Given the description of an element on the screen output the (x, y) to click on. 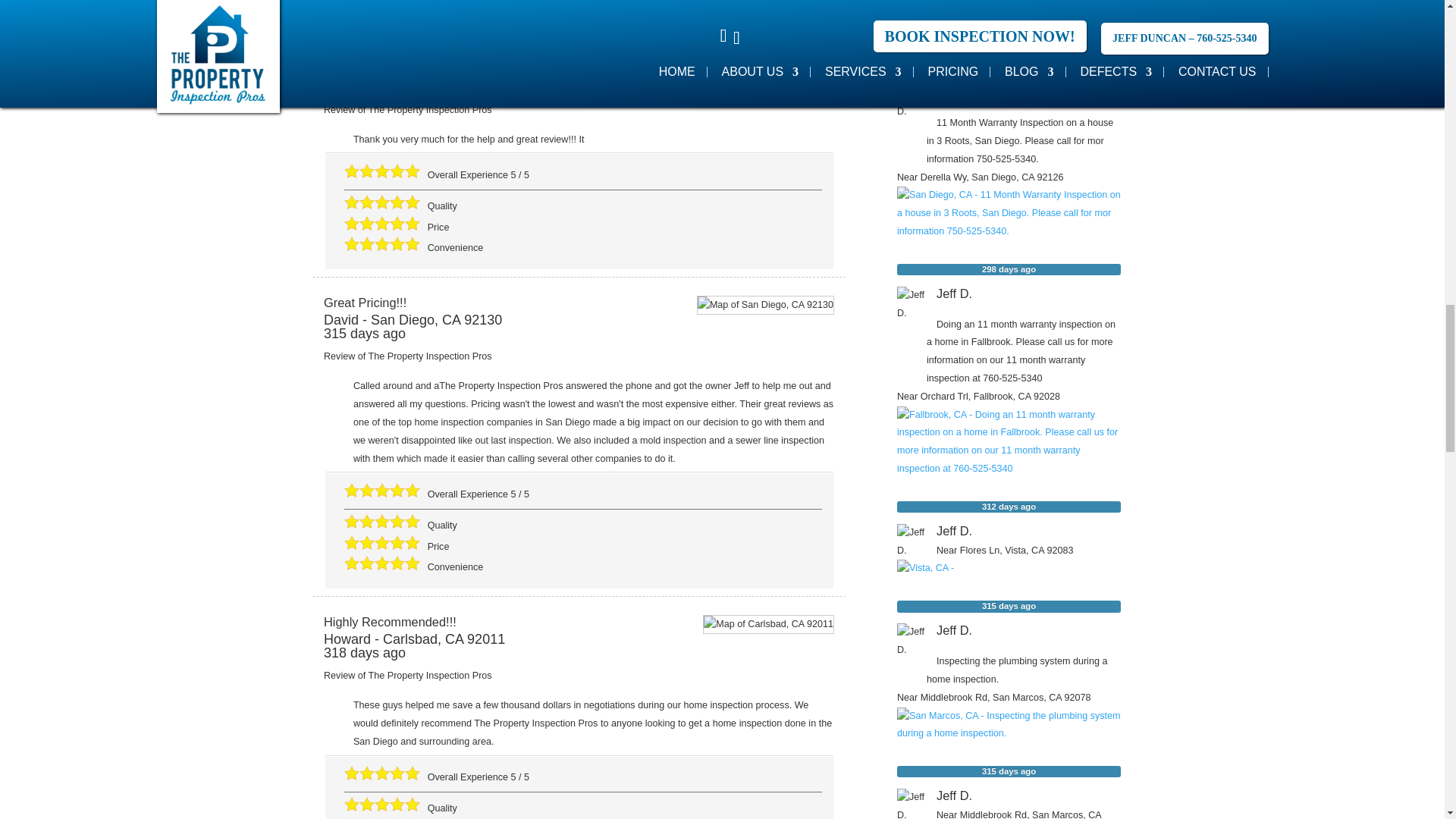
Jeff D. (911, 100)
Jeff D. (911, 539)
Inspecting the plumbing system during a home inspection.  (1008, 733)
Jeff D. (911, 301)
Jeff D. (911, 638)
Vista, CA -  (924, 570)
